Given the description of an element on the screen output the (x, y) to click on. 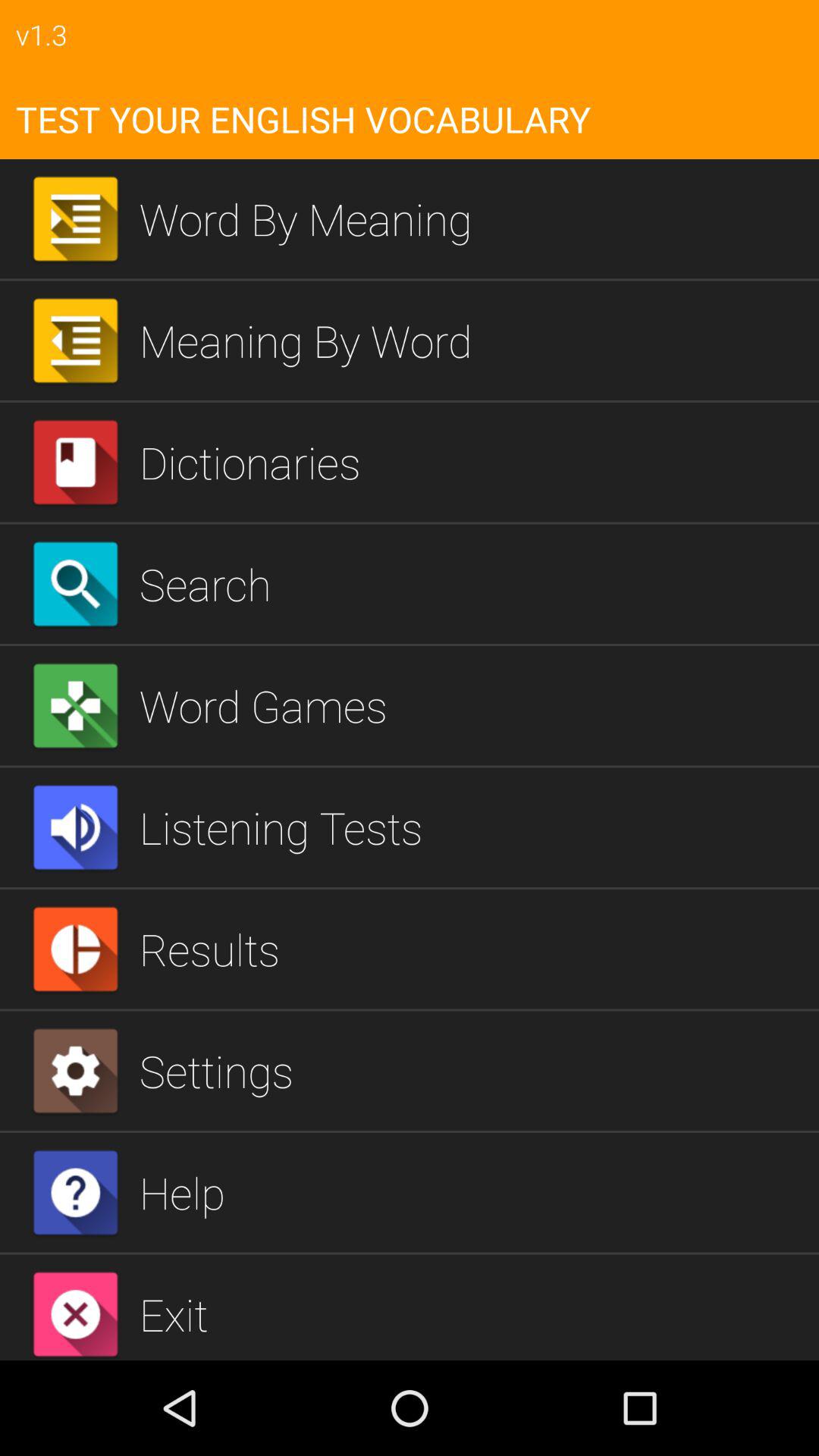
swipe to listening tests (473, 827)
